Given the description of an element on the screen output the (x, y) to click on. 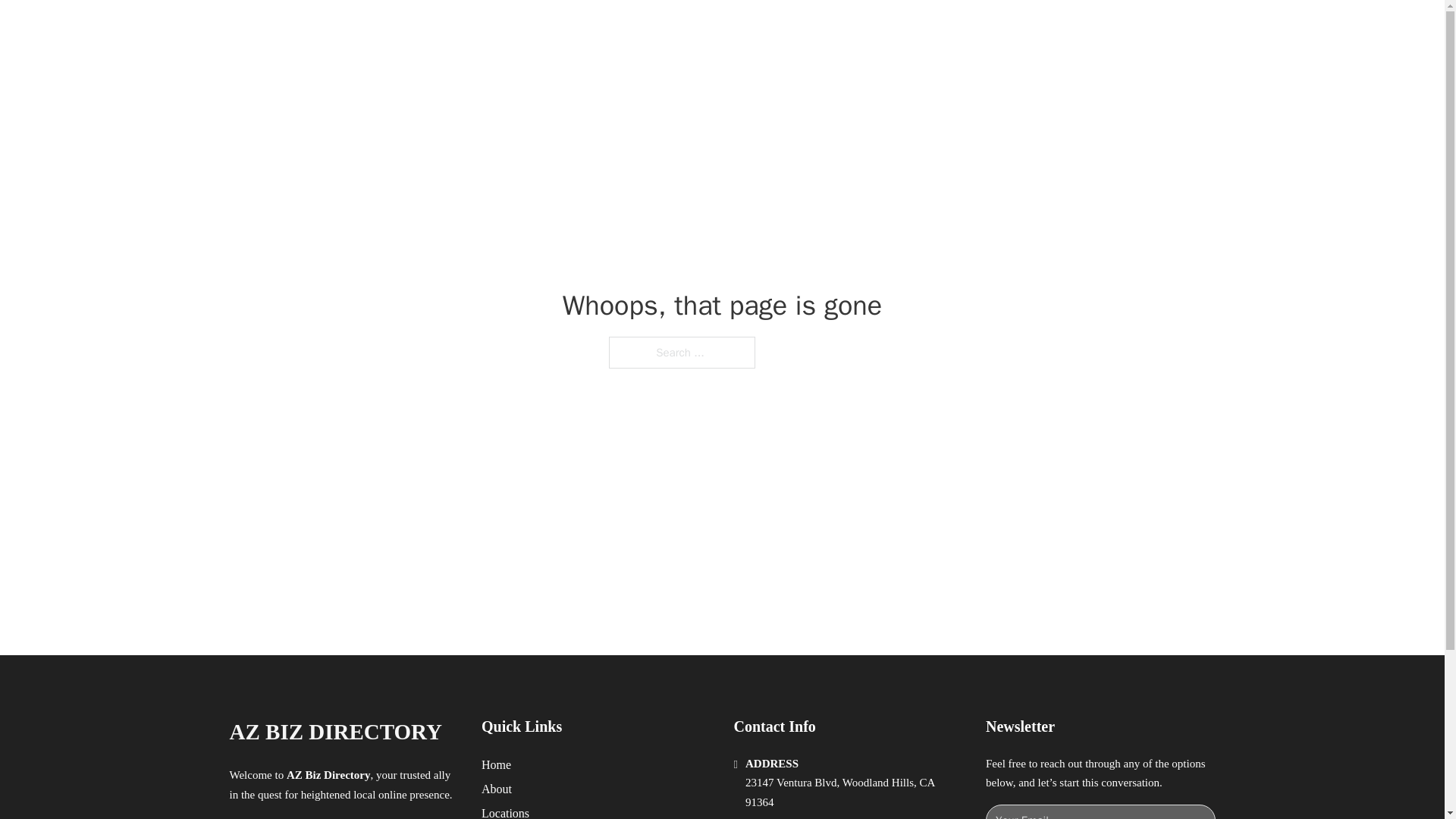
AZ BIZ DIRECTORY (403, 28)
About (496, 788)
Home (496, 764)
Locations (505, 811)
HOME (919, 29)
LOCATIONS (990, 29)
AZ BIZ DIRECTORY (334, 732)
